Given the description of an element on the screen output the (x, y) to click on. 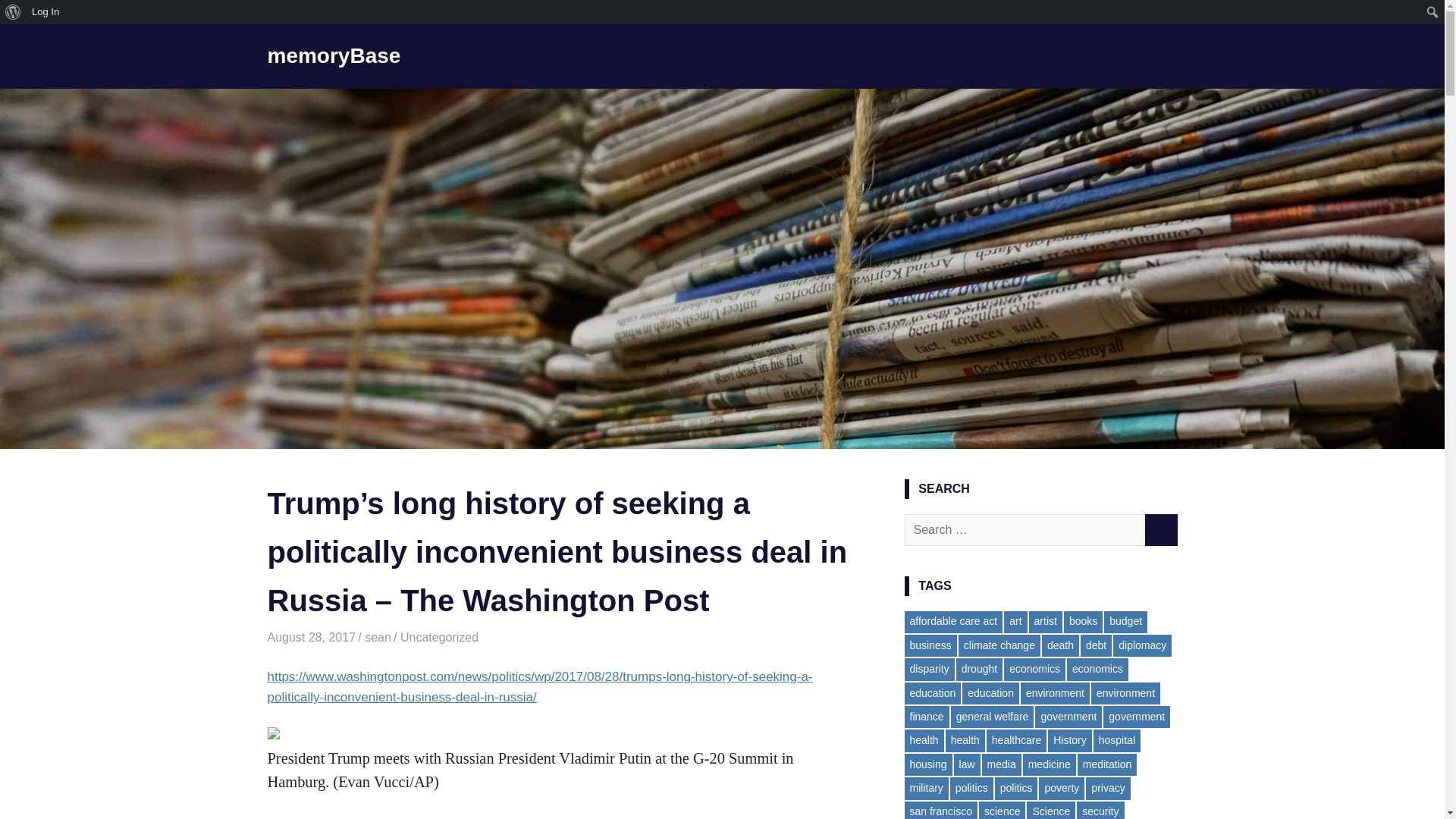
August 28, 2017 (310, 636)
Log In (45, 12)
memoryBase (333, 55)
Search for: (1024, 530)
Uncategorized (439, 636)
Search (15, 12)
6:49 pm (310, 636)
View all posts by sean (378, 636)
sean (378, 636)
